Given the description of an element on the screen output the (x, y) to click on. 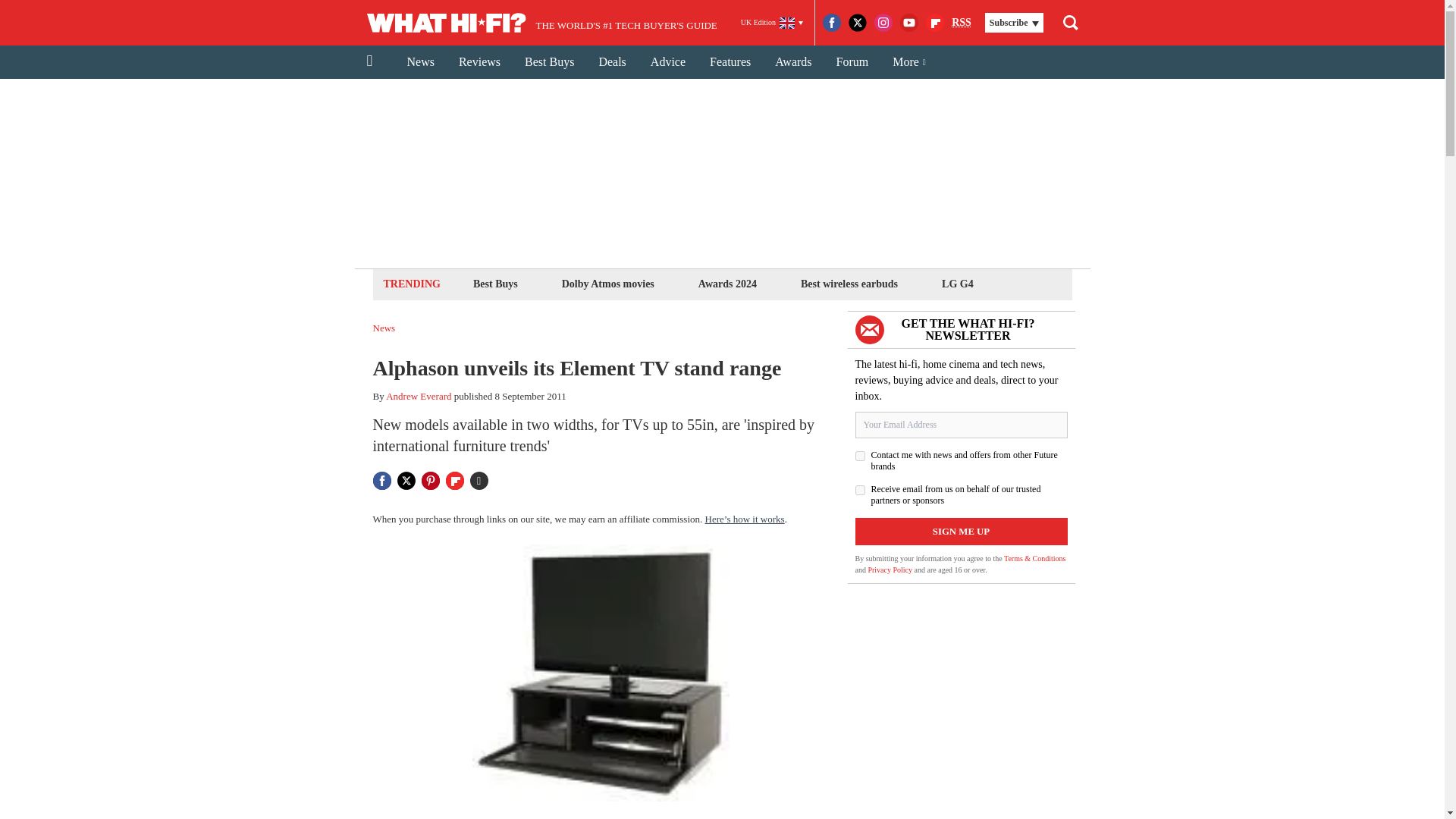
Advice (668, 61)
Awards (793, 61)
News (419, 61)
Deals (611, 61)
Features (729, 61)
LG G4 (957, 283)
Forum (852, 61)
Sign me up (961, 531)
Dolby Atmos movies (607, 283)
Really Simple Syndication (961, 21)
Best wireless earbuds (848, 283)
Best Buys (549, 61)
Best Buys (494, 283)
Awards 2024 (727, 283)
RSS (961, 22)
